Given the description of an element on the screen output the (x, y) to click on. 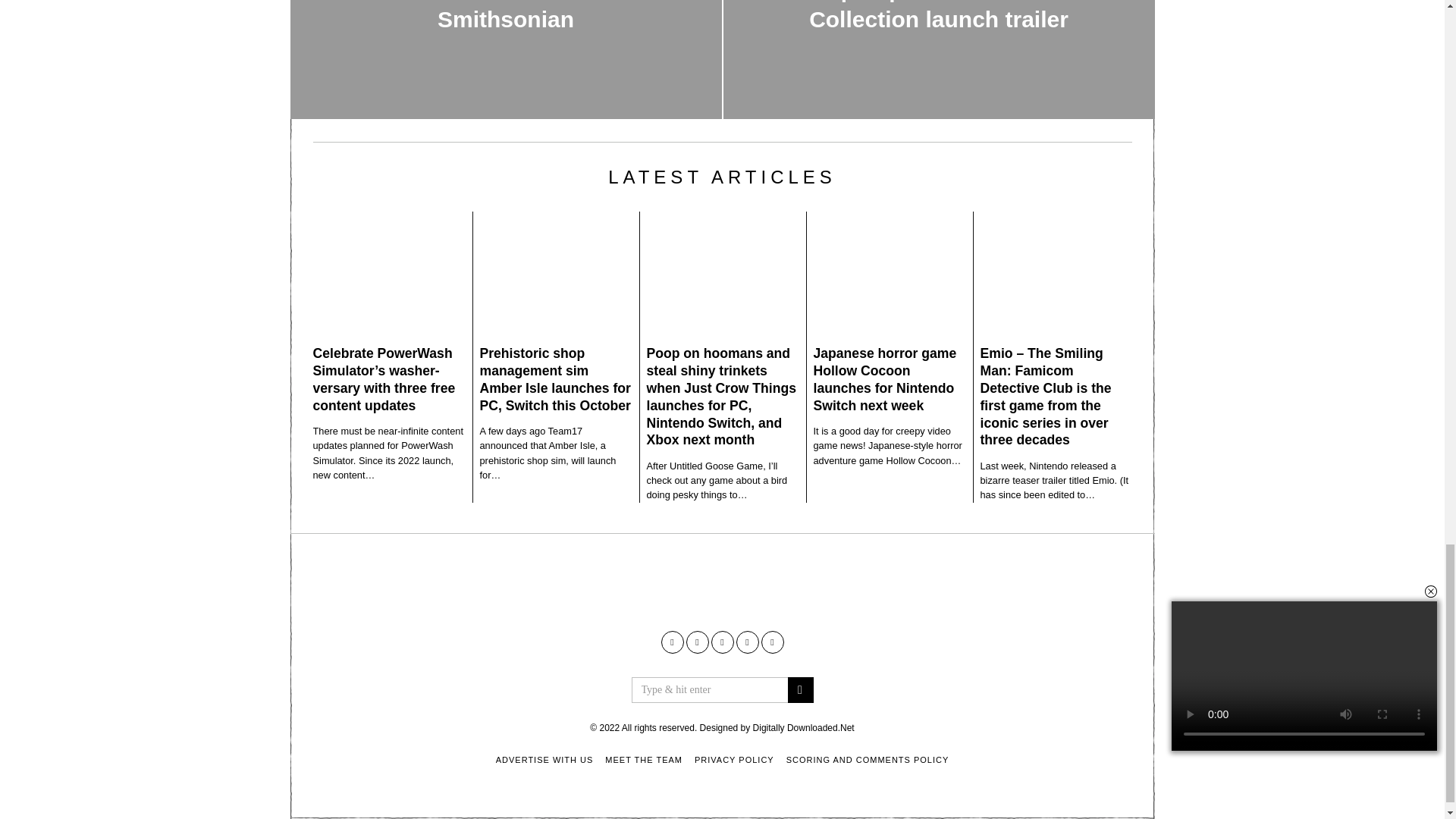
Go (799, 689)
itch.io (722, 641)
YouTube (696, 641)
Patreon (746, 641)
Discord (772, 641)
Facebook (672, 641)
